Given the description of an element on the screen output the (x, y) to click on. 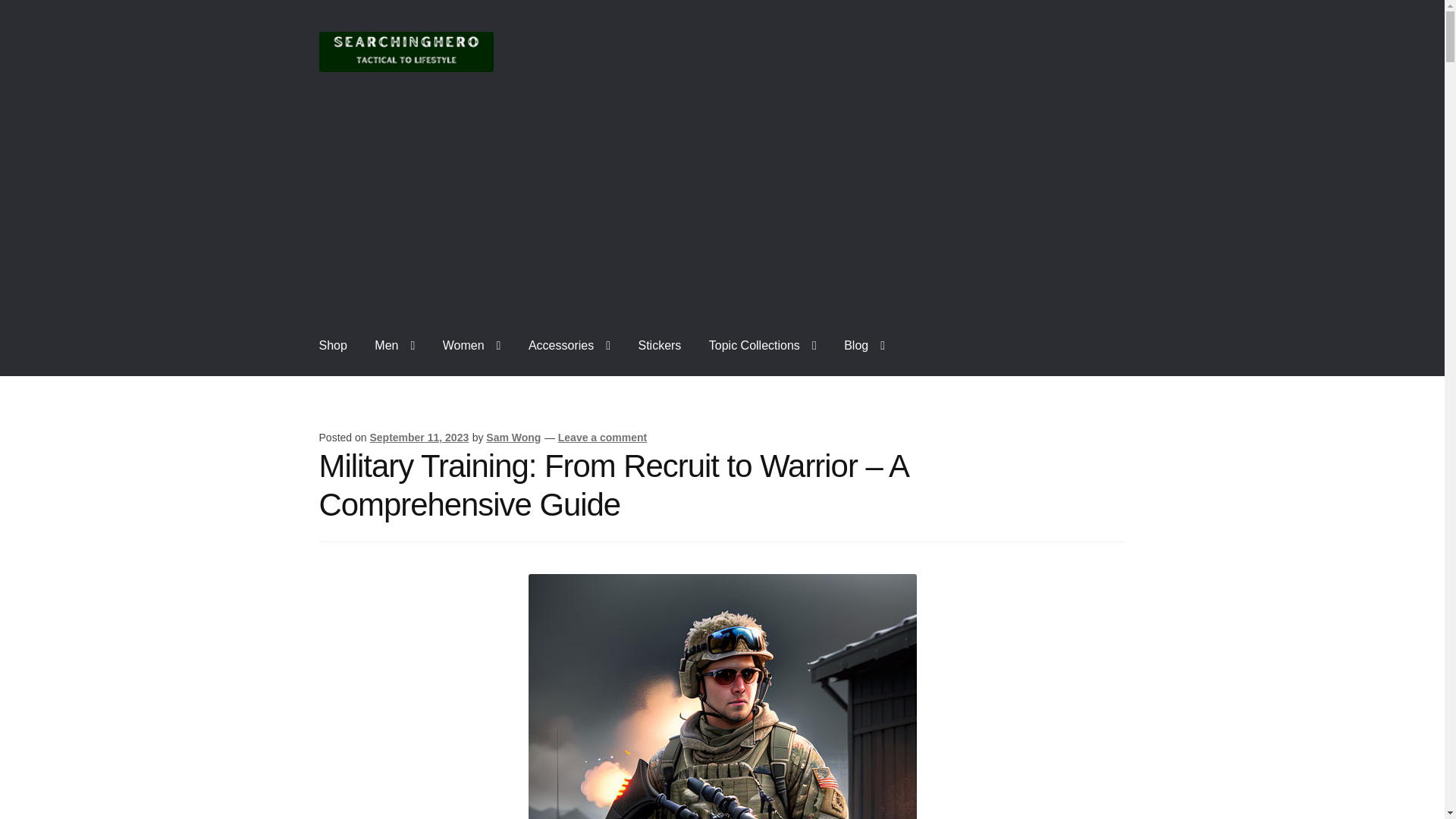
Women (471, 345)
Men (394, 345)
Stickers (659, 345)
Topic Collections (762, 345)
Blog (863, 345)
Accessories (569, 345)
